Given the description of an element on the screen output the (x, y) to click on. 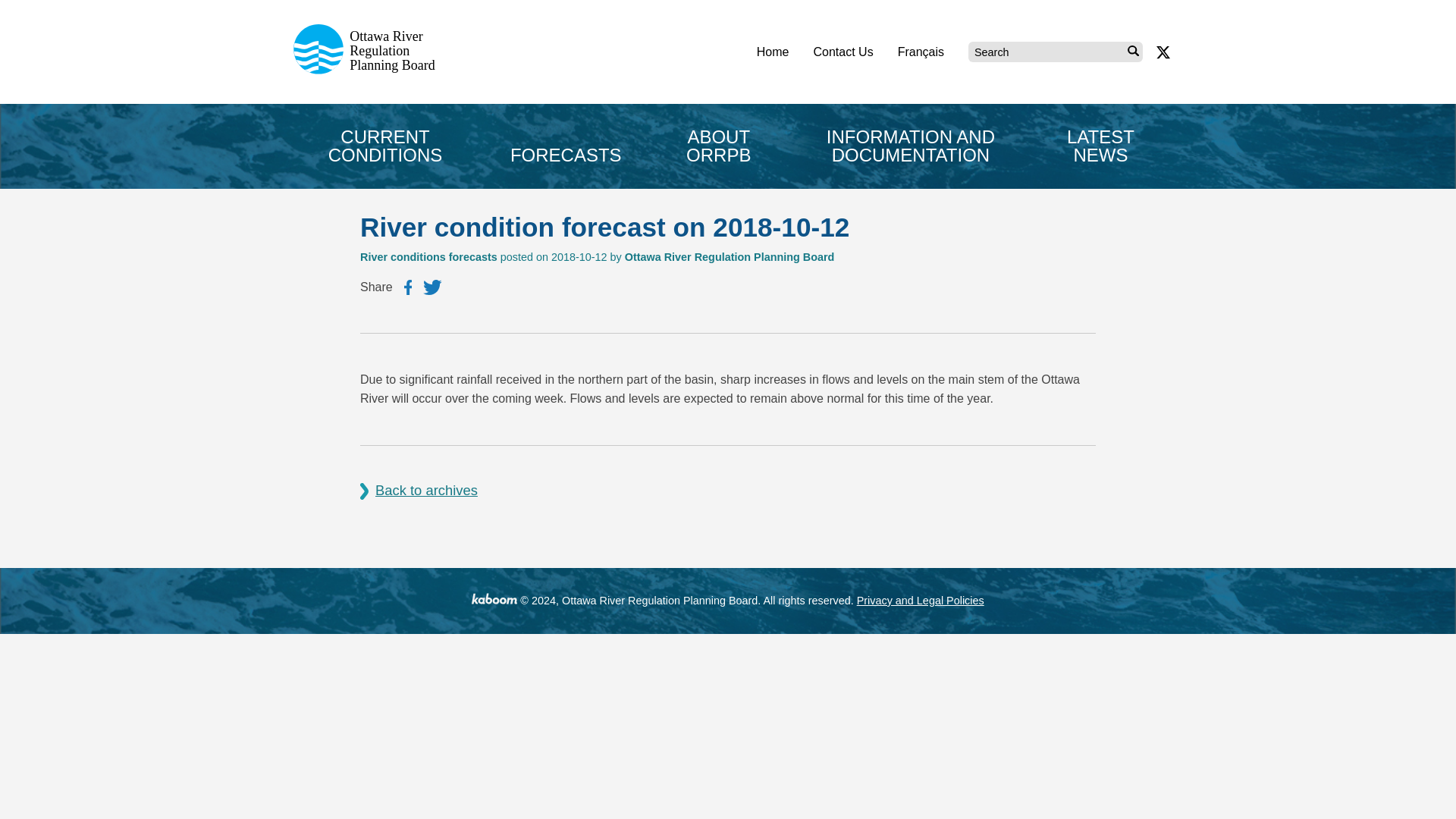
CURRENT CONDITIONS (385, 145)
Home (773, 51)
Contact Us (842, 51)
Twitter (432, 287)
Ottawa River Regulation Planning Board (368, 69)
